Given the description of an element on the screen output the (x, y) to click on. 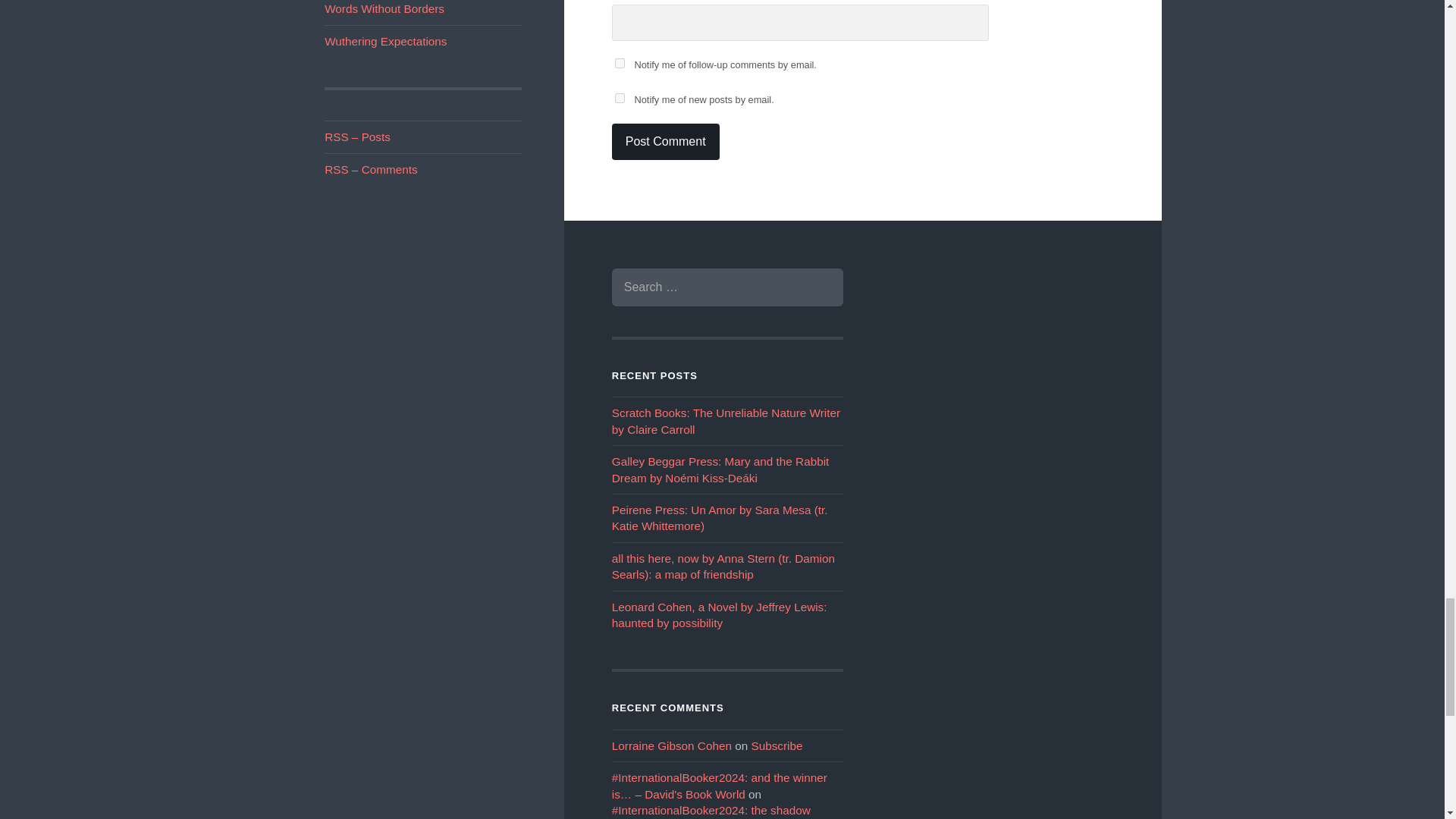
Post Comment (665, 140)
Search (820, 287)
Search (820, 287)
Subscribe to comments (370, 169)
Subscribe to posts (357, 136)
subscribe (619, 98)
subscribe (619, 62)
